Given the description of an element on the screen output the (x, y) to click on. 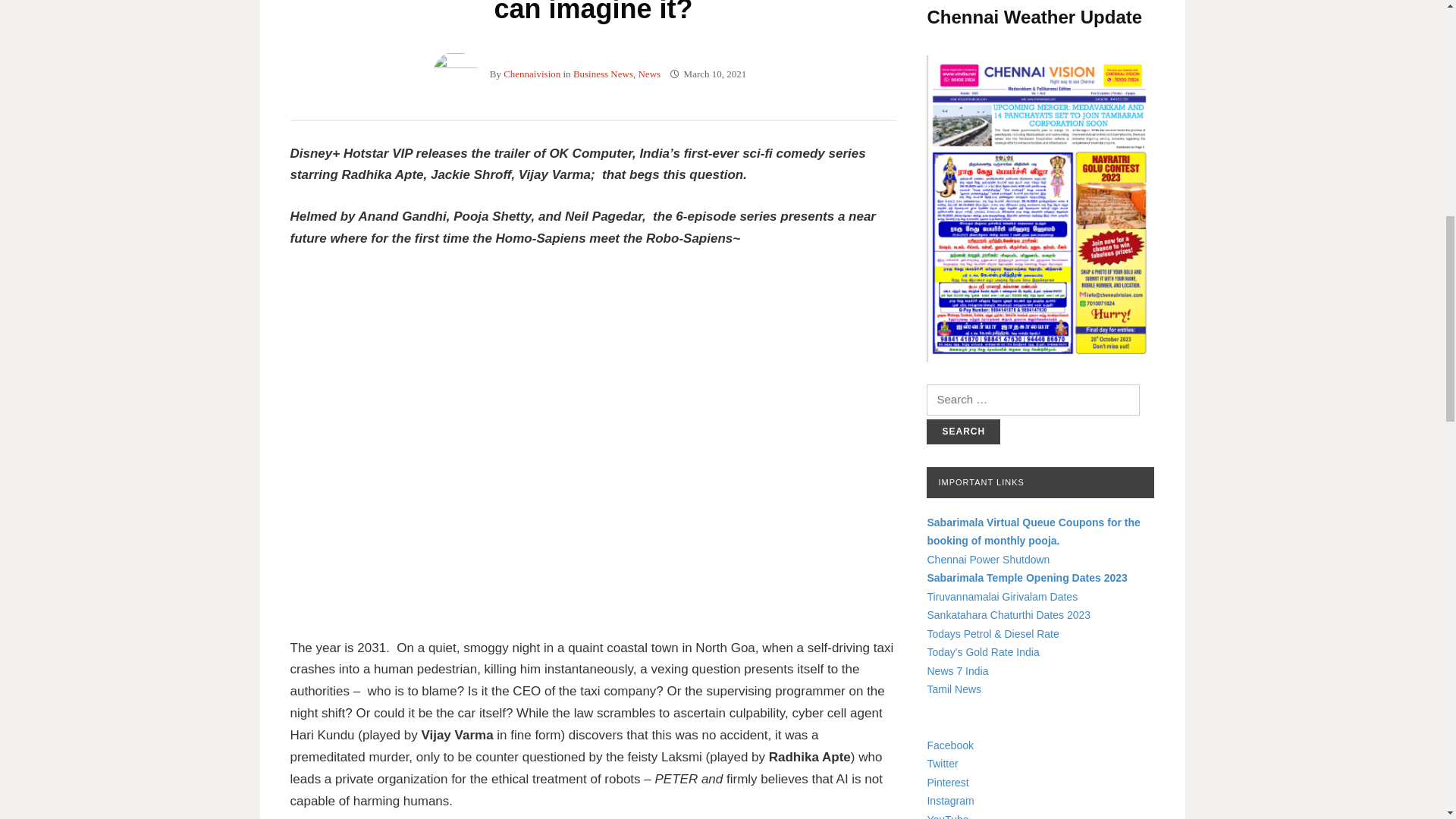
Search (963, 431)
Posts by Chennaivision (531, 73)
Search (963, 431)
